Given the description of an element on the screen output the (x, y) to click on. 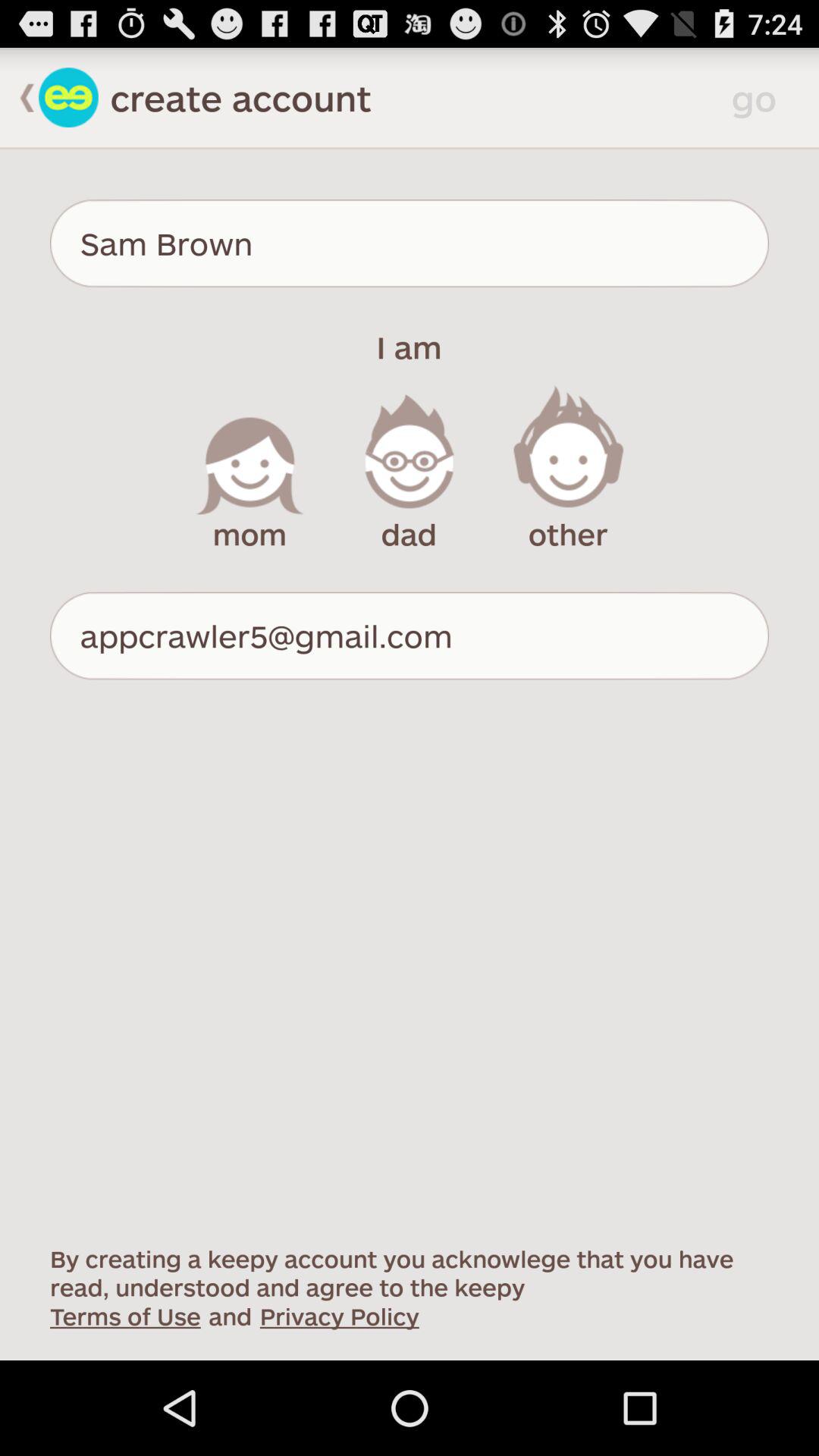
home (68, 97)
